Given the description of an element on the screen output the (x, y) to click on. 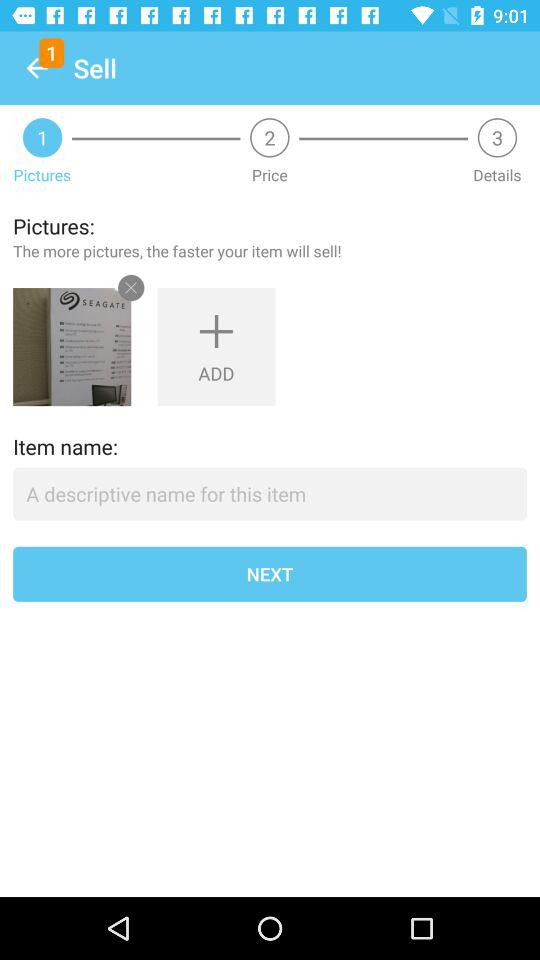
uploaded image preview (72, 347)
